Given the description of an element on the screen output the (x, y) to click on. 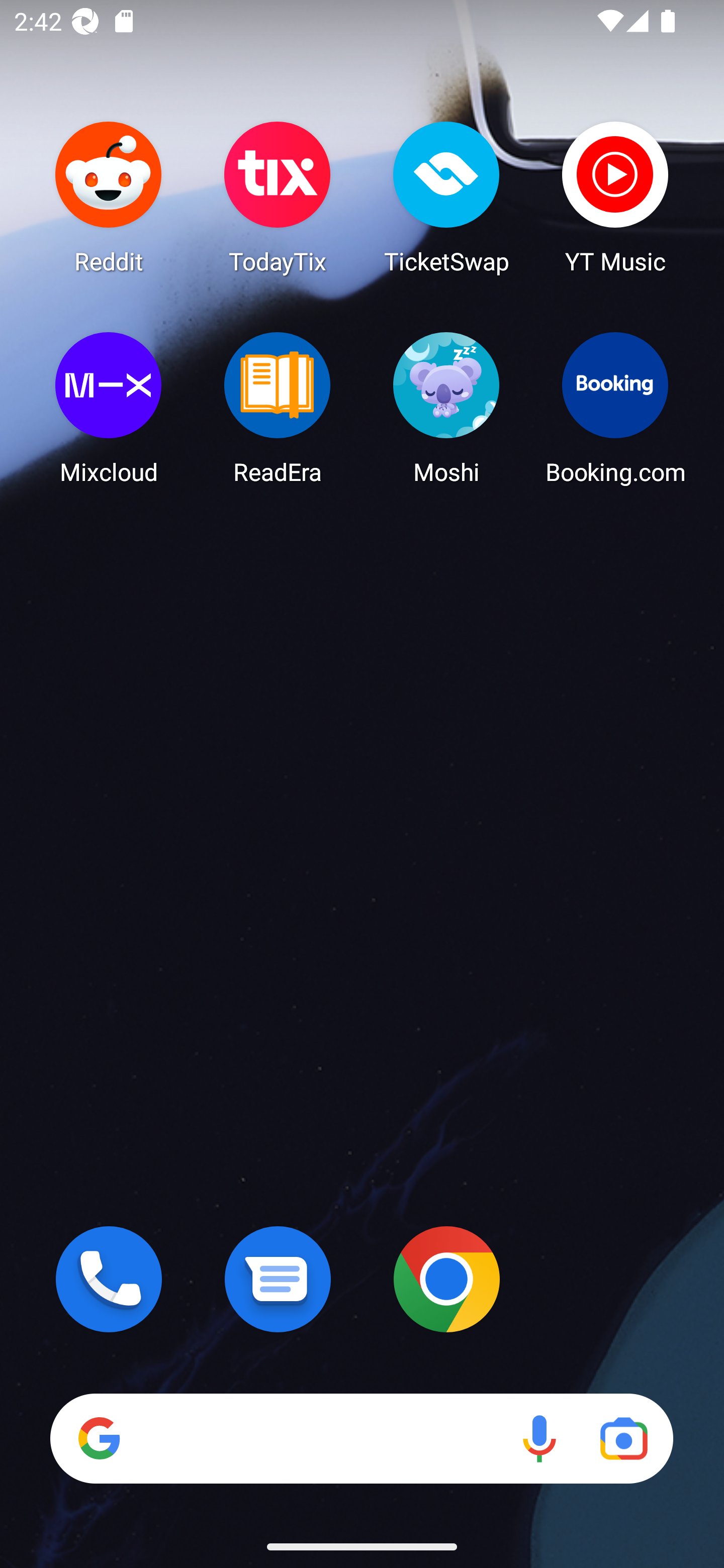
Reddit (108, 196)
TodayTix (277, 196)
TicketSwap (445, 196)
YT Music (615, 196)
Mixcloud (108, 407)
ReadEra (277, 407)
Moshi (445, 407)
Booking.com (615, 407)
Phone (108, 1279)
Messages (277, 1279)
Chrome (446, 1279)
Search Voice search Google Lens (361, 1438)
Voice search (539, 1438)
Google Lens (623, 1438)
